Given the description of an element on the screen output the (x, y) to click on. 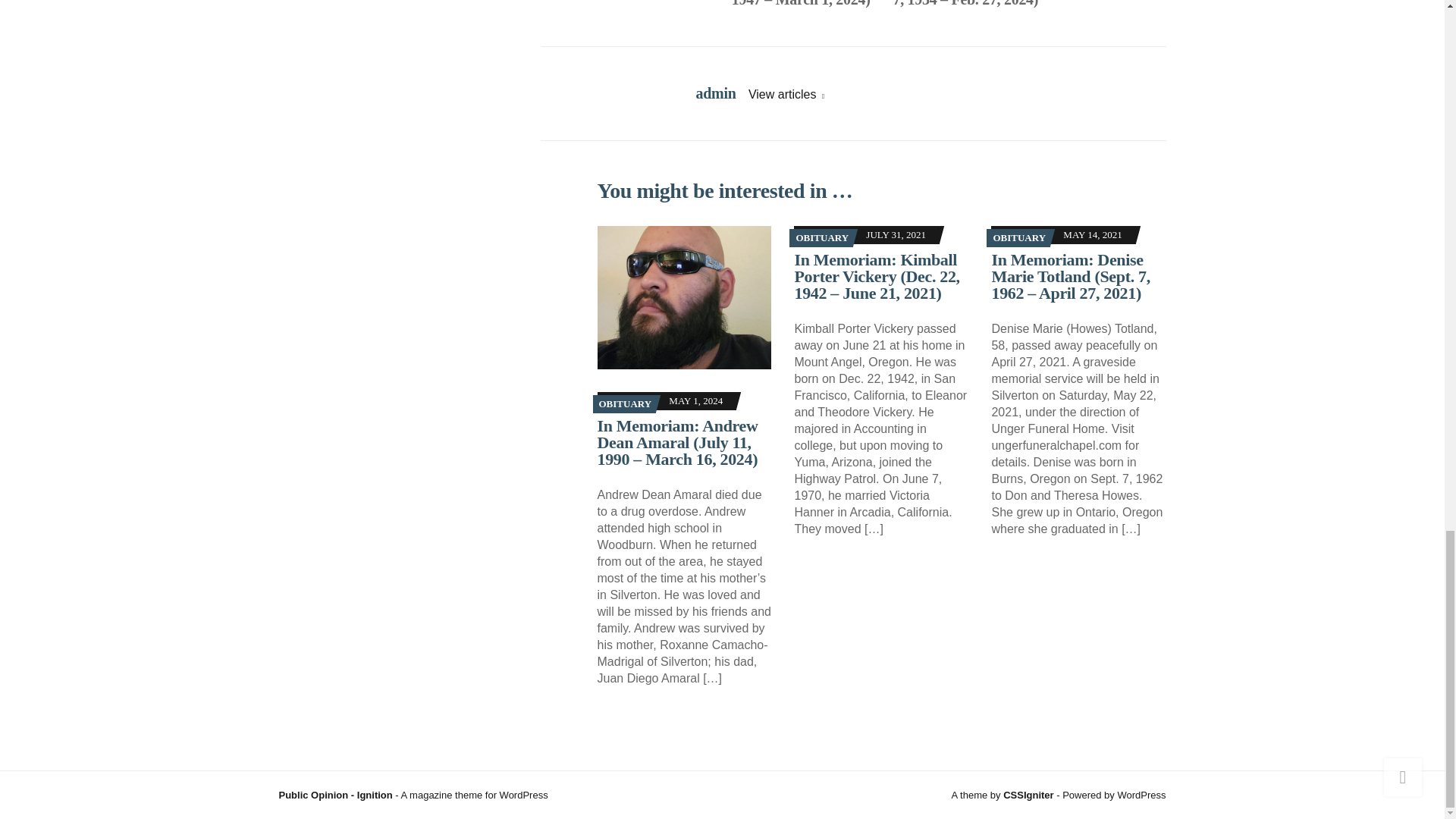
OBITUARY (1018, 237)
OBITUARY (821, 237)
OBITUARY (625, 403)
View articles (786, 93)
